Given the description of an element on the screen output the (x, y) to click on. 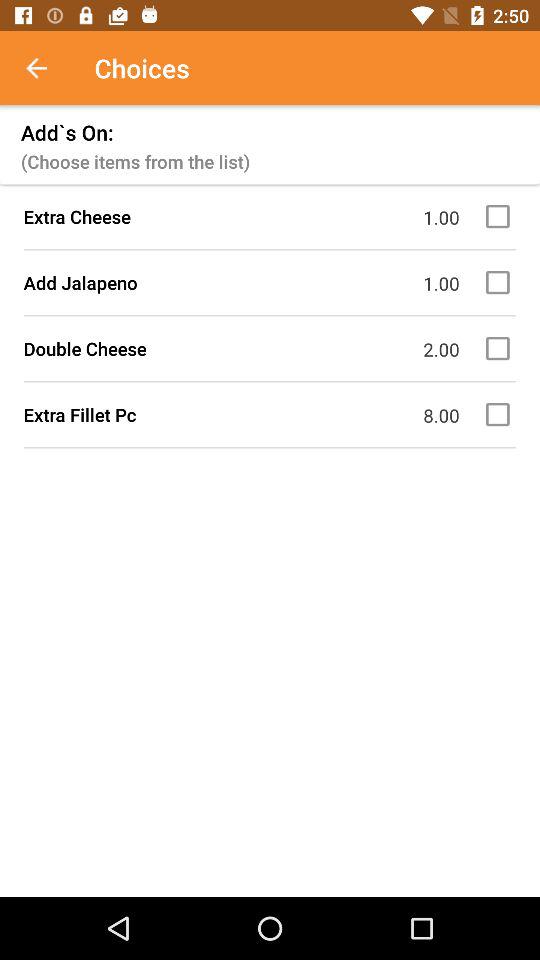
to select the double cheese option (501, 348)
